Given the description of an element on the screen output the (x, y) to click on. 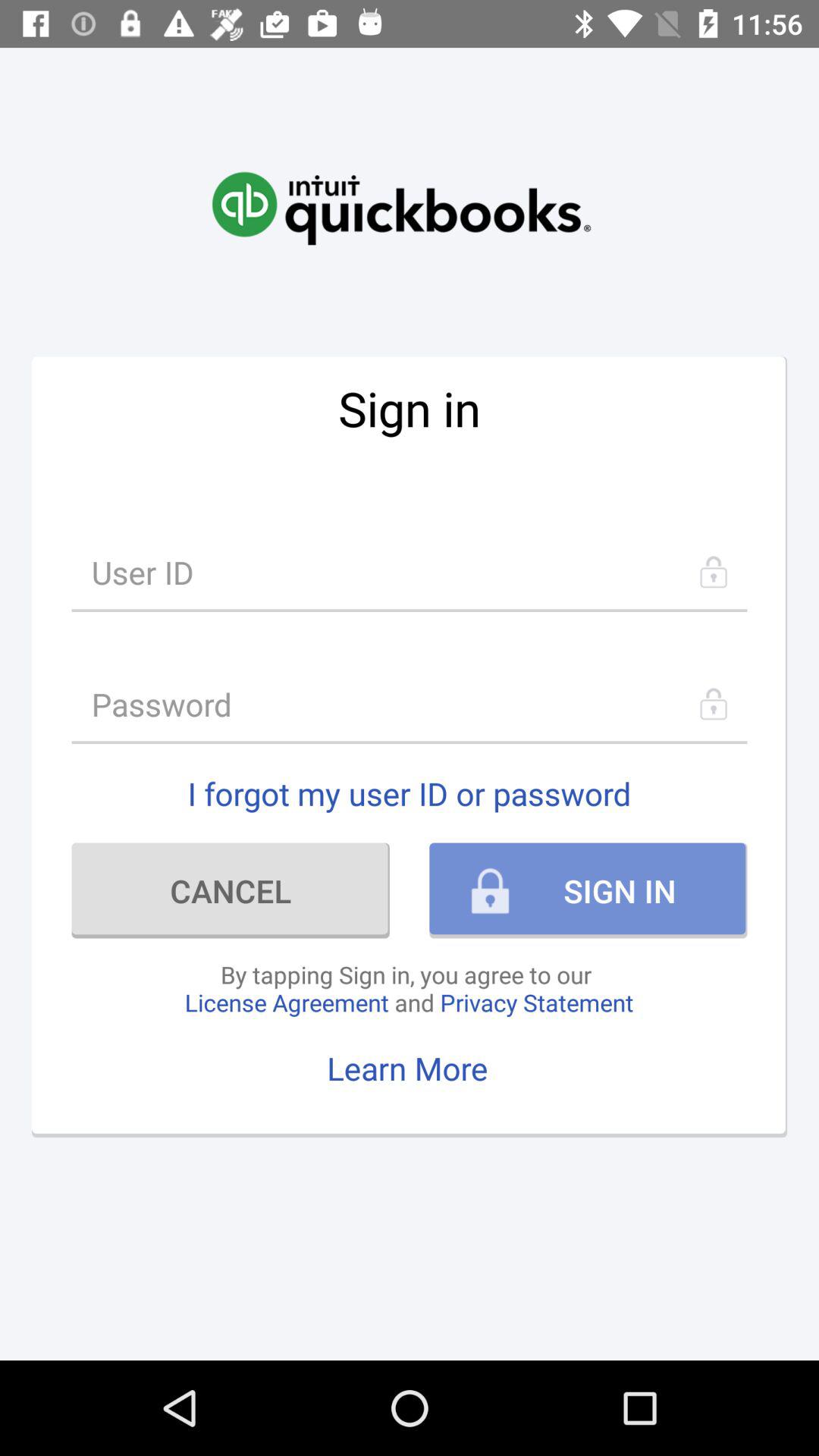
password (409, 703)
